Given the description of an element on the screen output the (x, y) to click on. 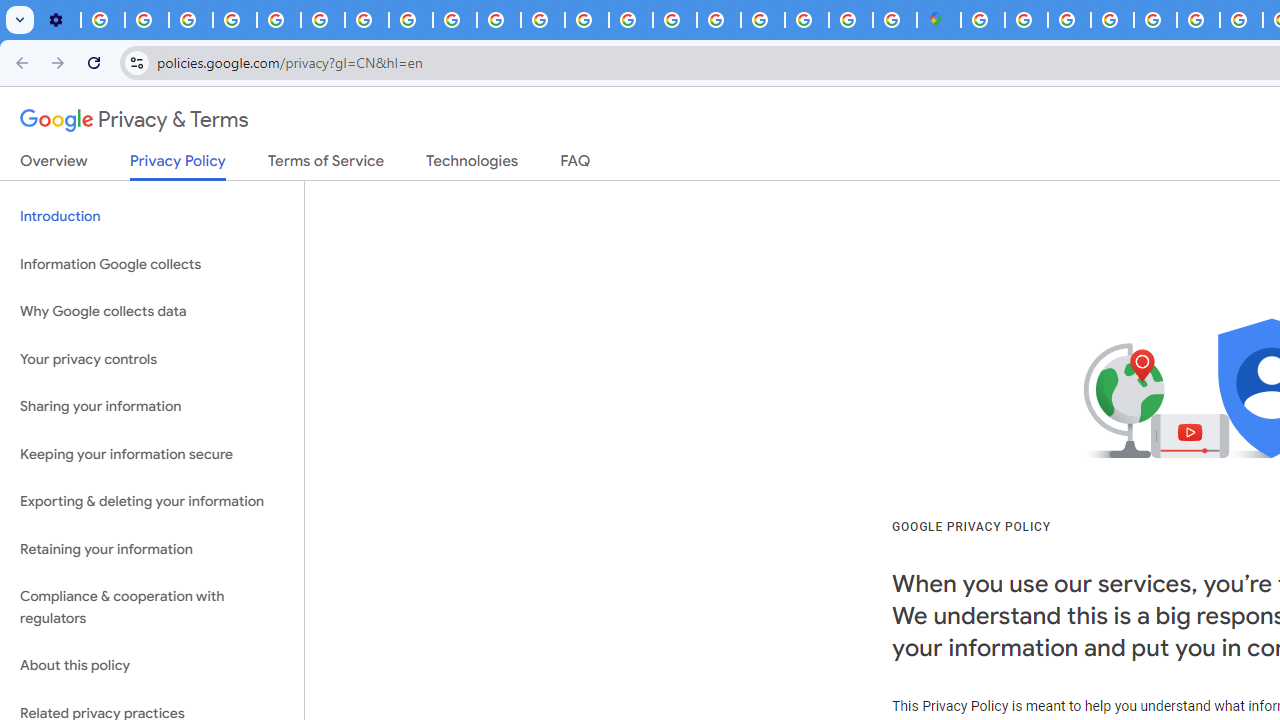
Terms and Conditions (1155, 20)
YouTube (322, 20)
Sign in - Google Accounts (1026, 20)
